Given the description of an element on the screen output the (x, y) to click on. 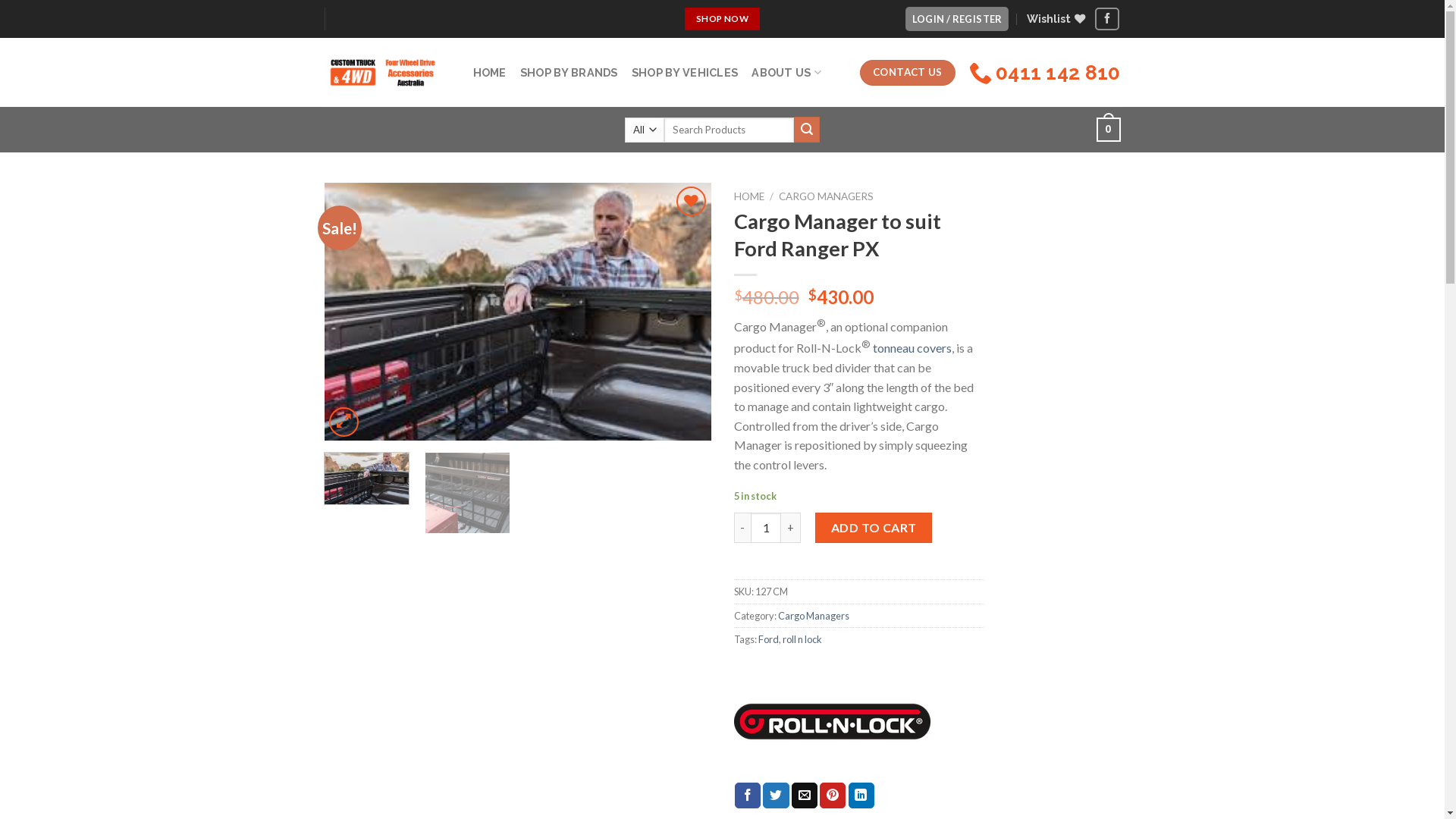
LOGIN / REGISTER Element type: text (957, 18)
HOME Element type: text (489, 72)
Email to a Friend Element type: hover (804, 795)
SHOP BY VEHICLES Element type: text (684, 72)
ABOUT US Element type: text (786, 72)
roll n lock Element type: text (802, 639)
Share on LinkedIn Element type: hover (861, 795)
Zoom Element type: hover (343, 421)
0411 142 810 Element type: text (1044, 72)
HOME Element type: text (749, 196)
Wishlist Element type: text (1055, 18)
Follow on Facebook Element type: hover (1107, 18)
Cargo Managers Element type: text (813, 615)
tonneau covers Element type: text (911, 347)
Search Element type: text (806, 129)
0 Element type: text (1108, 129)
Roll n lock Element type: hover (832, 721)
SHOP BY BRANDS Element type: text (569, 72)
CONTACT US Element type: text (907, 72)
Share on Facebook Element type: hover (747, 795)
Ford Element type: text (768, 639)
Share on Twitter Element type: hover (775, 795)
CARGO MANAGERS Element type: text (825, 196)
Pin on Pinterest Element type: hover (832, 795)
SHOP NOW Element type: text (721, 18)
ADD TO CART Element type: text (873, 527)
